Given the description of an element on the screen output the (x, y) to click on. 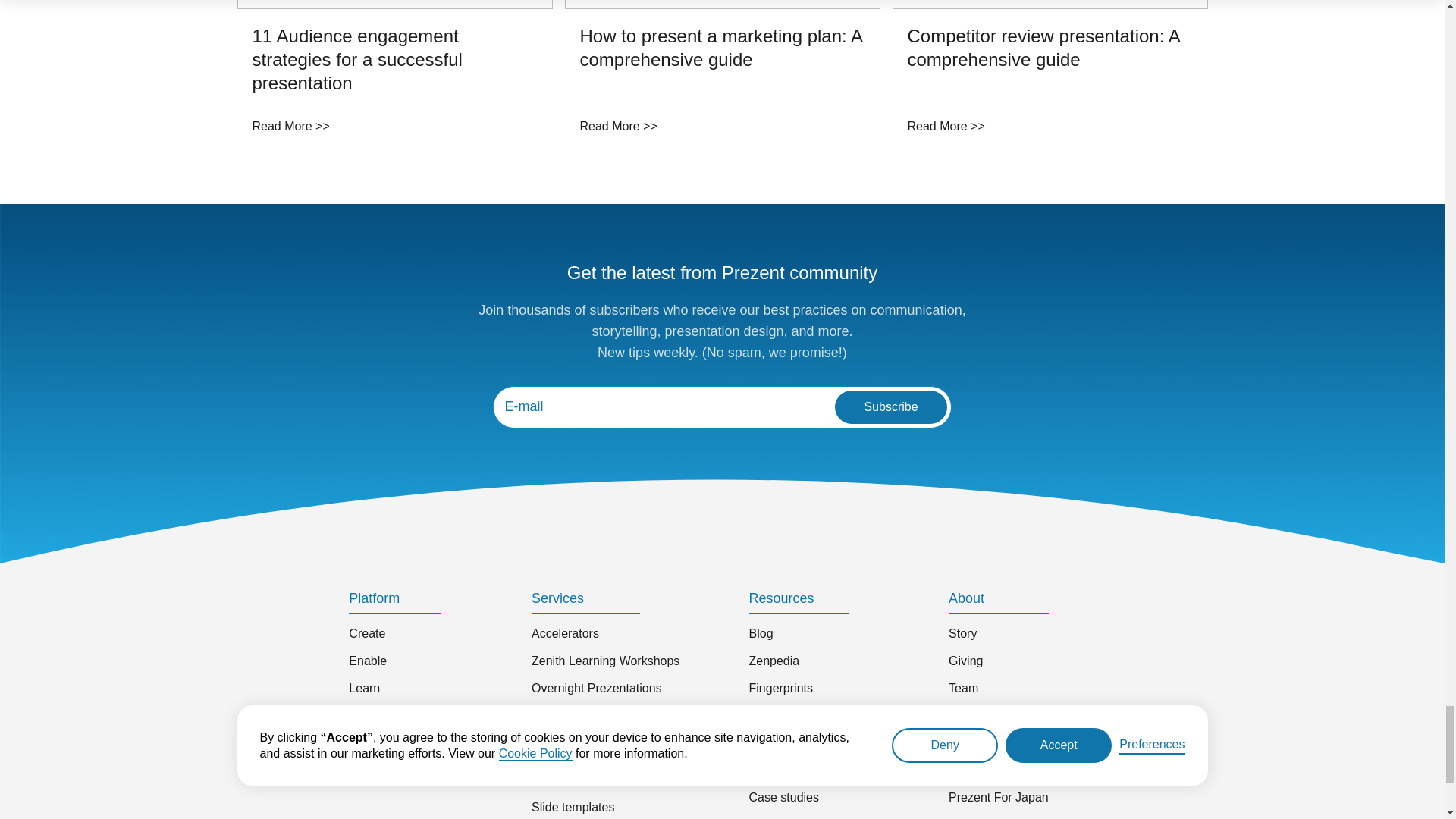
Subscribe (890, 407)
